Given the description of an element on the screen output the (x, y) to click on. 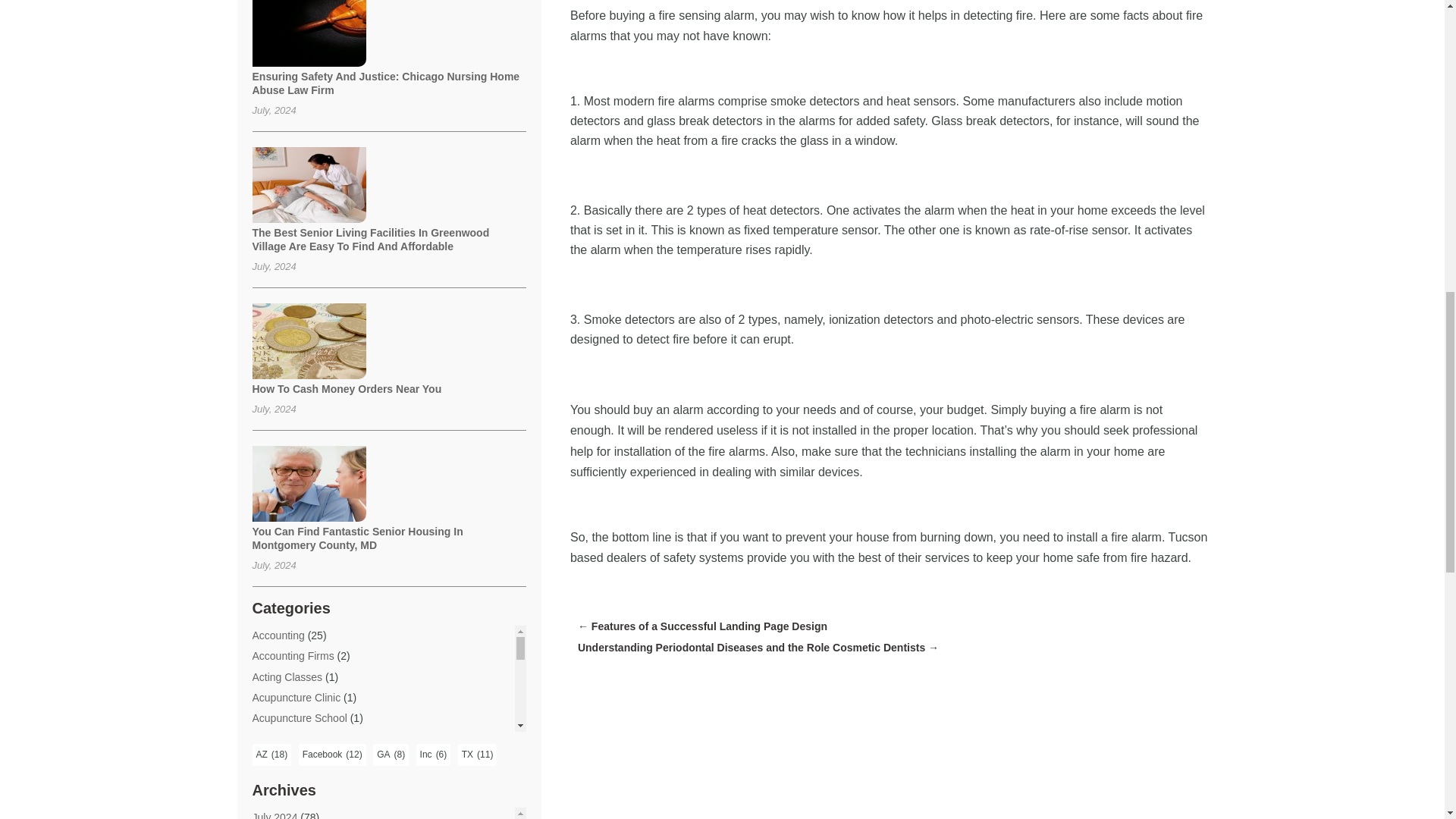
Accounting Firms (292, 655)
Air Conditioning (288, 816)
Agricultural Service (297, 779)
Agriculture And Forestry (308, 800)
Acupuncture School (298, 717)
Acupuncture Clinic (295, 697)
Acting Classes (286, 676)
Addiction Treatment (298, 738)
Adoption (272, 758)
Accounting (277, 635)
How To Cash Money Orders Near You (346, 388)
